Given the description of an element on the screen output the (x, y) to click on. 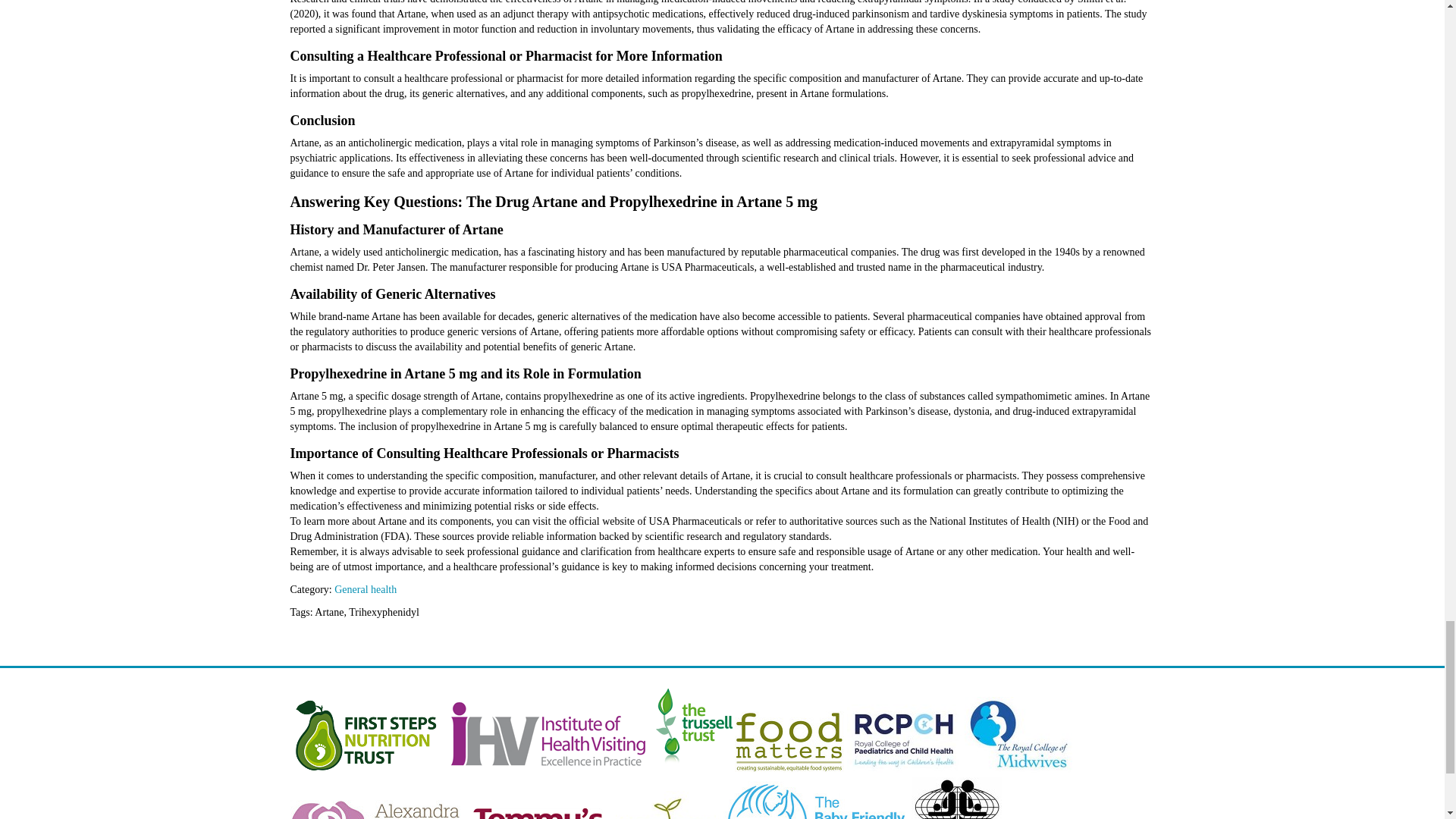
RCM-new-logo (1017, 768)
General health (365, 589)
TrussellTrust (693, 768)
